Given the description of an element on the screen output the (x, y) to click on. 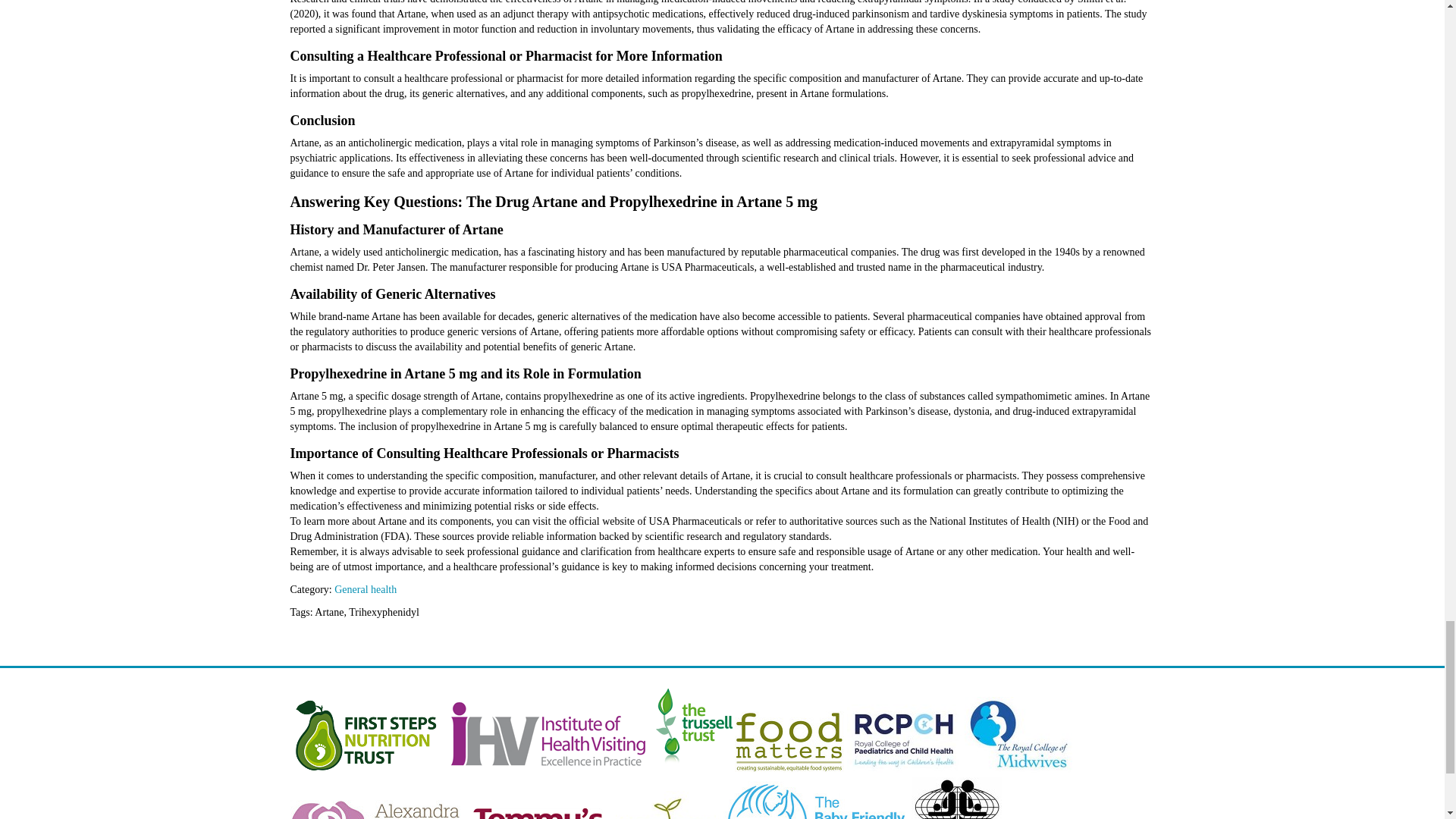
RCM-new-logo (1017, 768)
General health (365, 589)
TrussellTrust (693, 768)
